Given the description of an element on the screen output the (x, y) to click on. 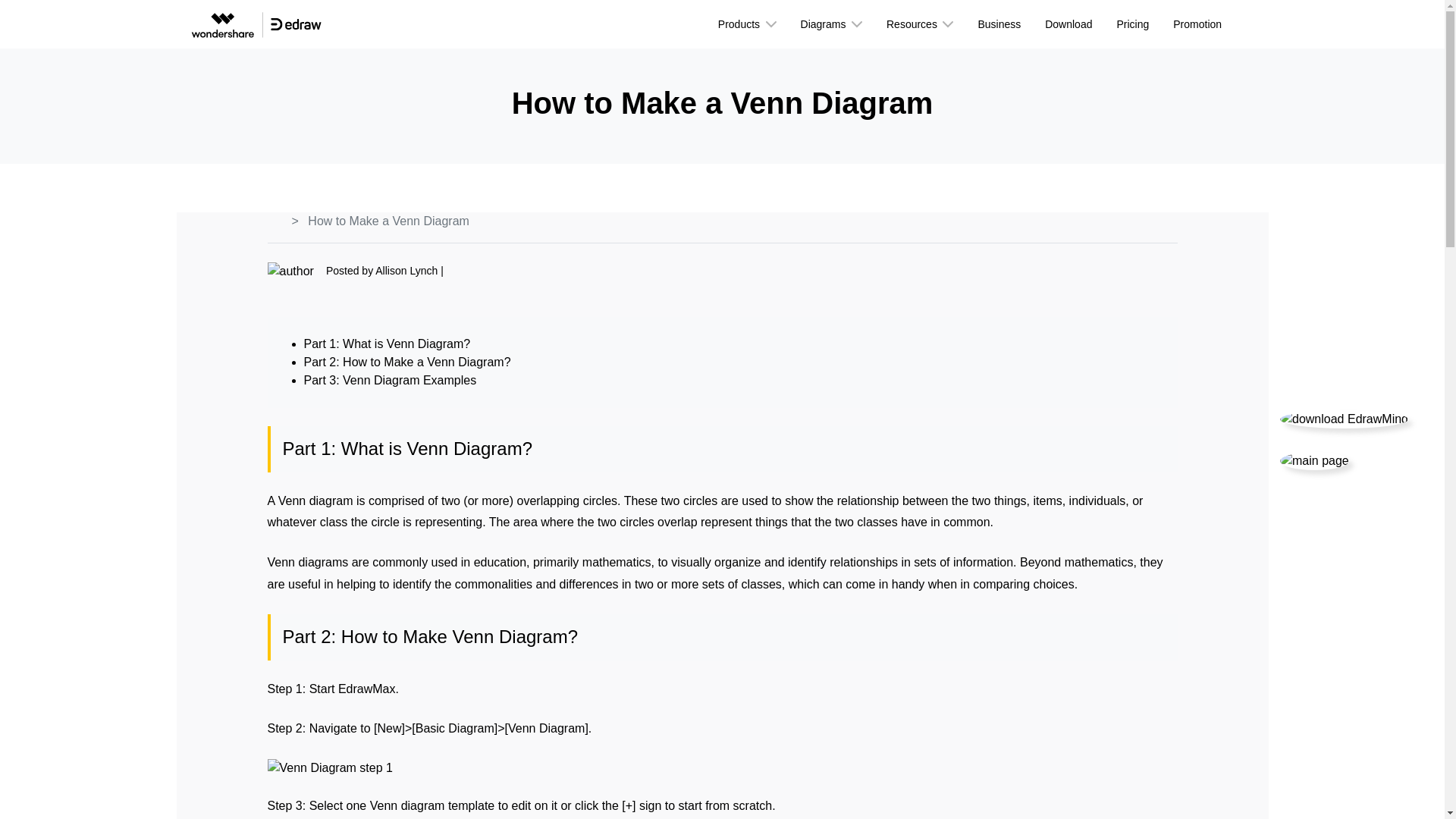
Free Download (1343, 419)
Diagrams (832, 24)
Back to Top (1314, 461)
Products (747, 24)
